Given the description of an element on the screen output the (x, y) to click on. 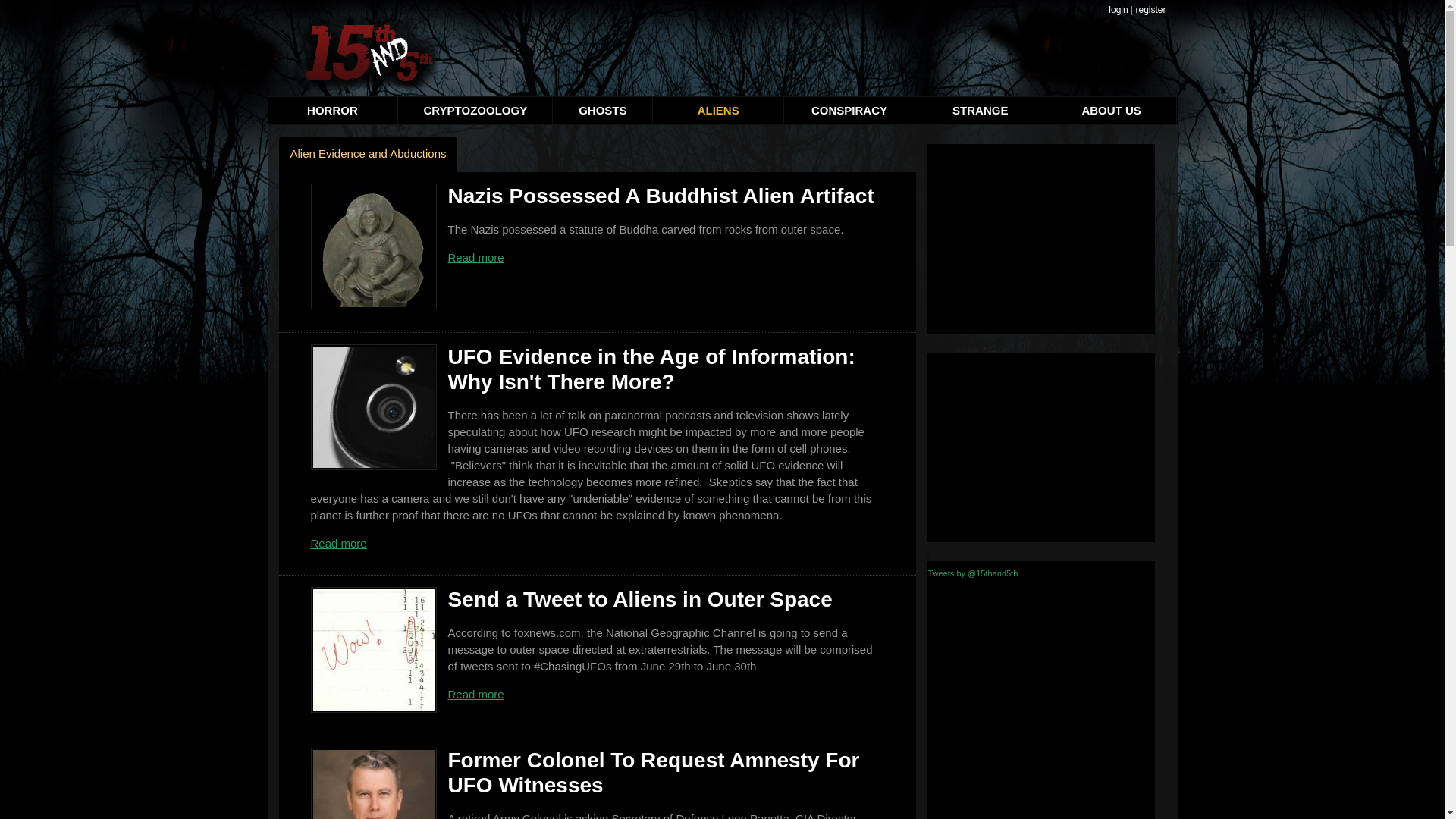
Nazis Possessed A Buddhist Alien Artifact Element type: text (660, 195)
login Element type: text (1117, 9)
15thand5th.com Element type: hover (362, 53)
Read more Element type: text (475, 256)
Read more Element type: text (475, 693)
Advertisement Element type: hover (1040, 238)
HORROR Element type: text (332, 111)
GHOSTS Element type: text (602, 111)
register Element type: text (1150, 9)
Tweets by @15thand5th Element type: text (973, 572)
Former Colonel To Request Amnesty For UFO Witnesses Element type: text (653, 771)
Advertisement Element type: hover (1040, 447)
CONSPIRACY Element type: text (849, 111)
Send a Tweet to Aliens in Outer Space Element type: text (639, 598)
Read more Element type: text (338, 542)
ABOUT US Element type: text (1111, 111)
CRYPTOZOOLOGY Element type: text (475, 111)
ALIENS Element type: text (718, 111)
STRANGE Element type: text (980, 111)
